Given the description of an element on the screen output the (x, y) to click on. 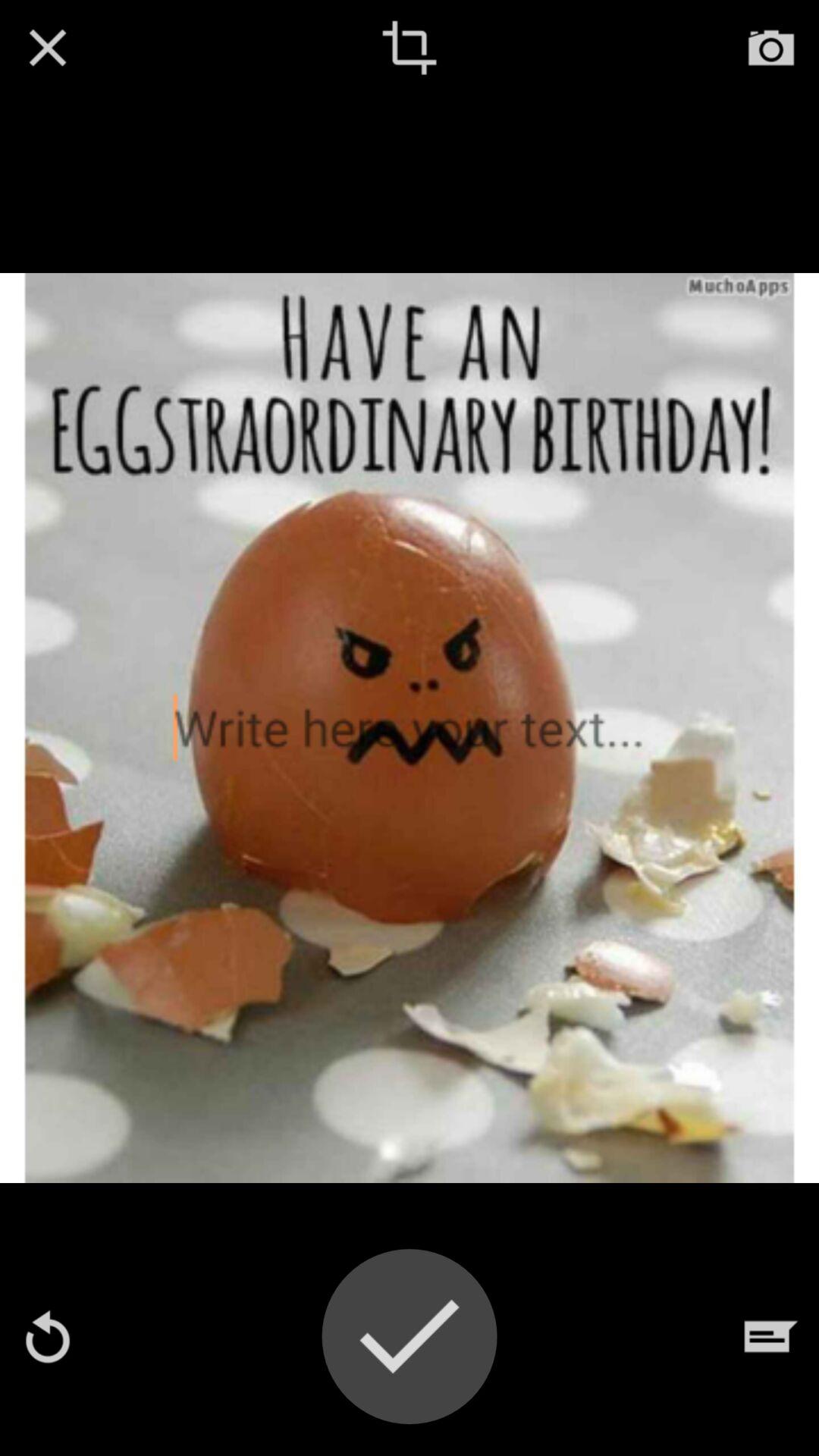
camera (771, 47)
